Given the description of an element on the screen output the (x, y) to click on. 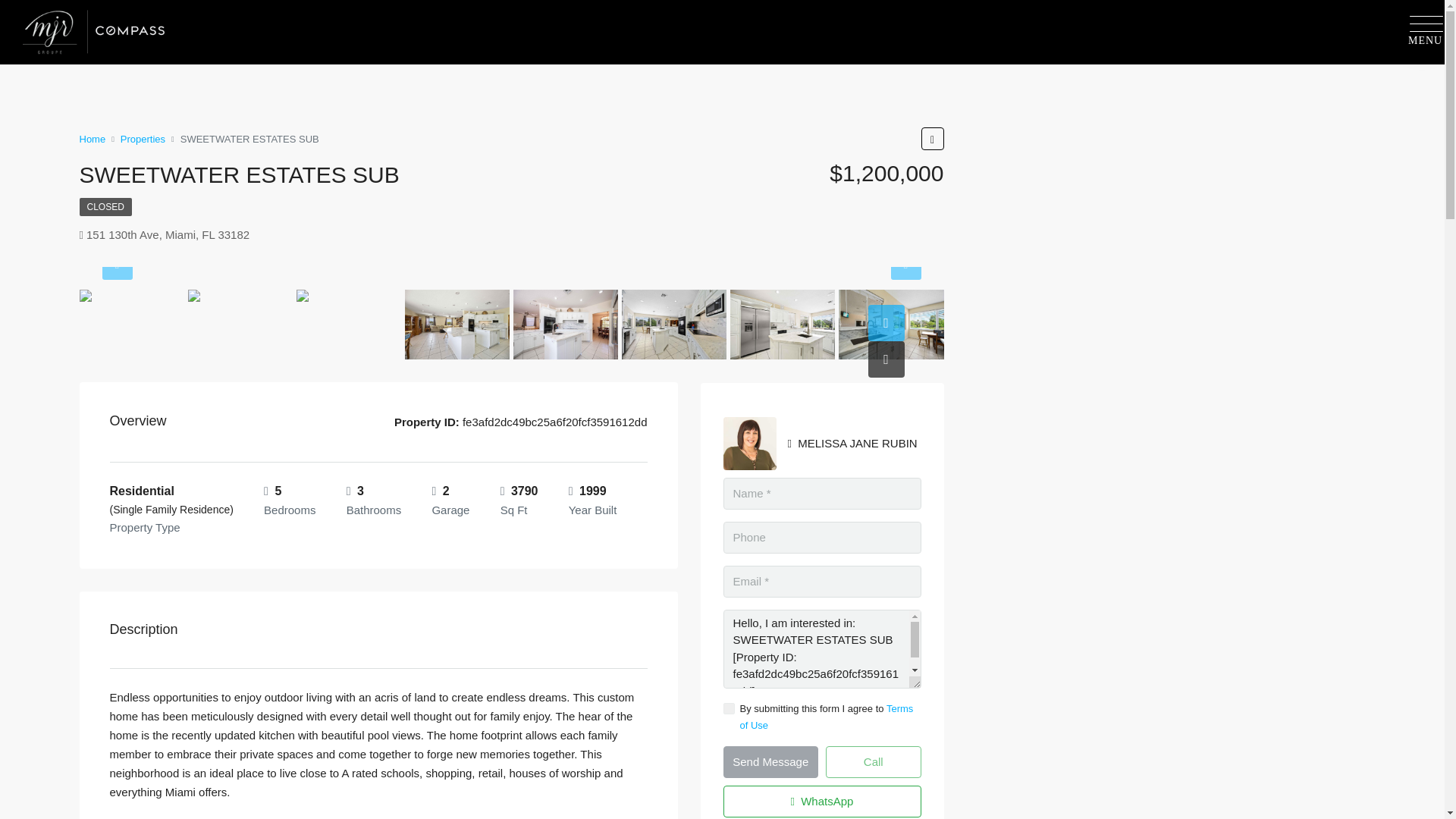
CLOSED (104, 207)
Properties (142, 138)
Home (91, 138)
